Given the description of an element on the screen output the (x, y) to click on. 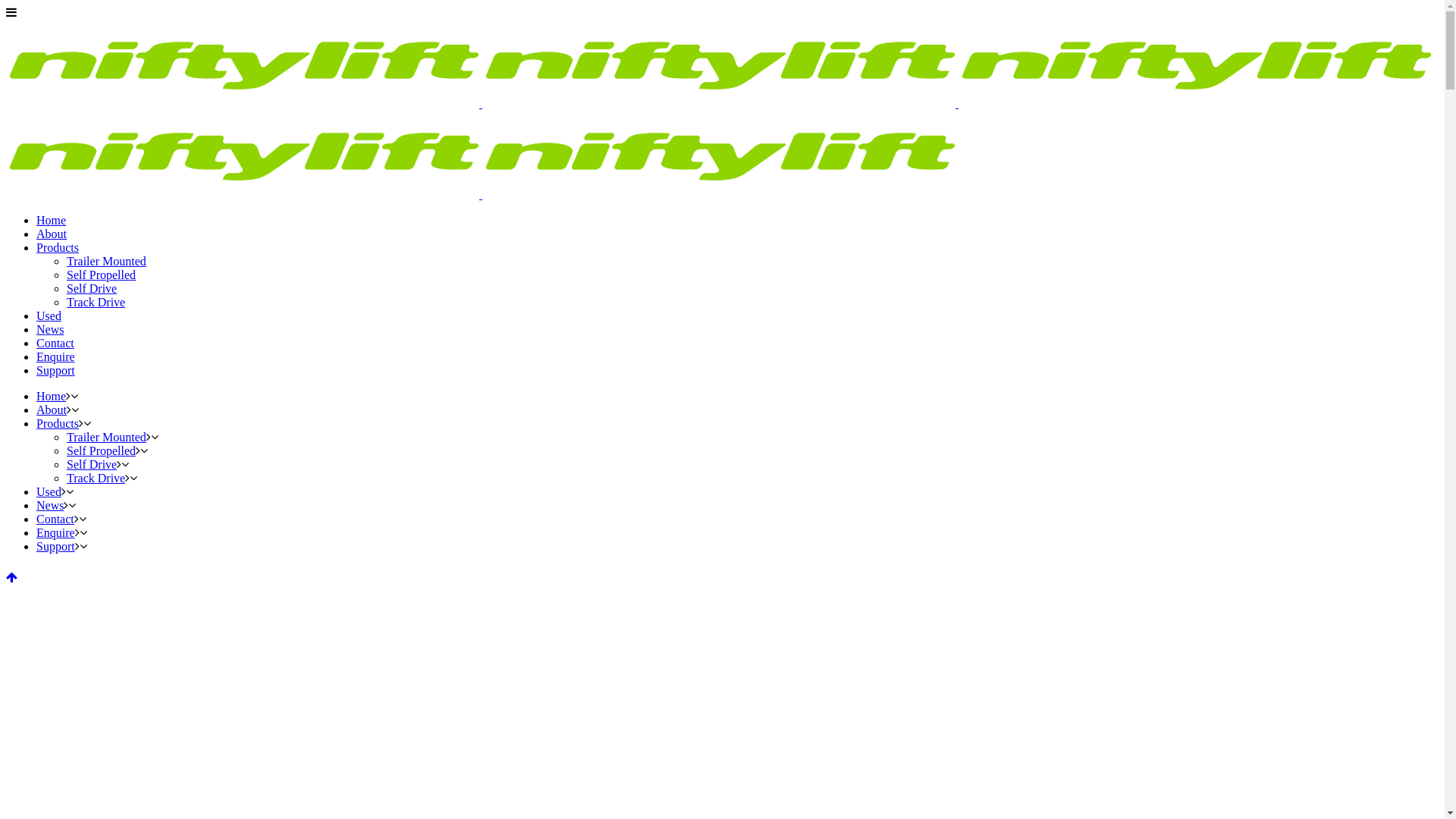
Self Drive Element type: text (91, 288)
Trailer Mounted Element type: text (106, 436)
Trailer Mounted Element type: text (106, 260)
About Element type: text (51, 409)
News Element type: text (49, 329)
Track Drive Element type: text (95, 301)
Enquire Element type: text (55, 532)
Home Element type: text (50, 395)
Track Drive Element type: text (95, 477)
Products Element type: text (57, 423)
Contact Element type: text (55, 518)
Support Element type: text (55, 370)
Home Element type: text (50, 219)
Self Drive Element type: text (91, 464)
Used Element type: text (48, 491)
Support Element type: text (55, 545)
News Element type: text (49, 504)
Self Propelled Element type: text (100, 450)
Products Element type: text (57, 247)
Contact Element type: text (55, 342)
Self Propelled Element type: text (100, 274)
Enquire Element type: text (55, 356)
Used Element type: text (48, 315)
About Element type: text (51, 233)
